Given the description of an element on the screen output the (x, y) to click on. 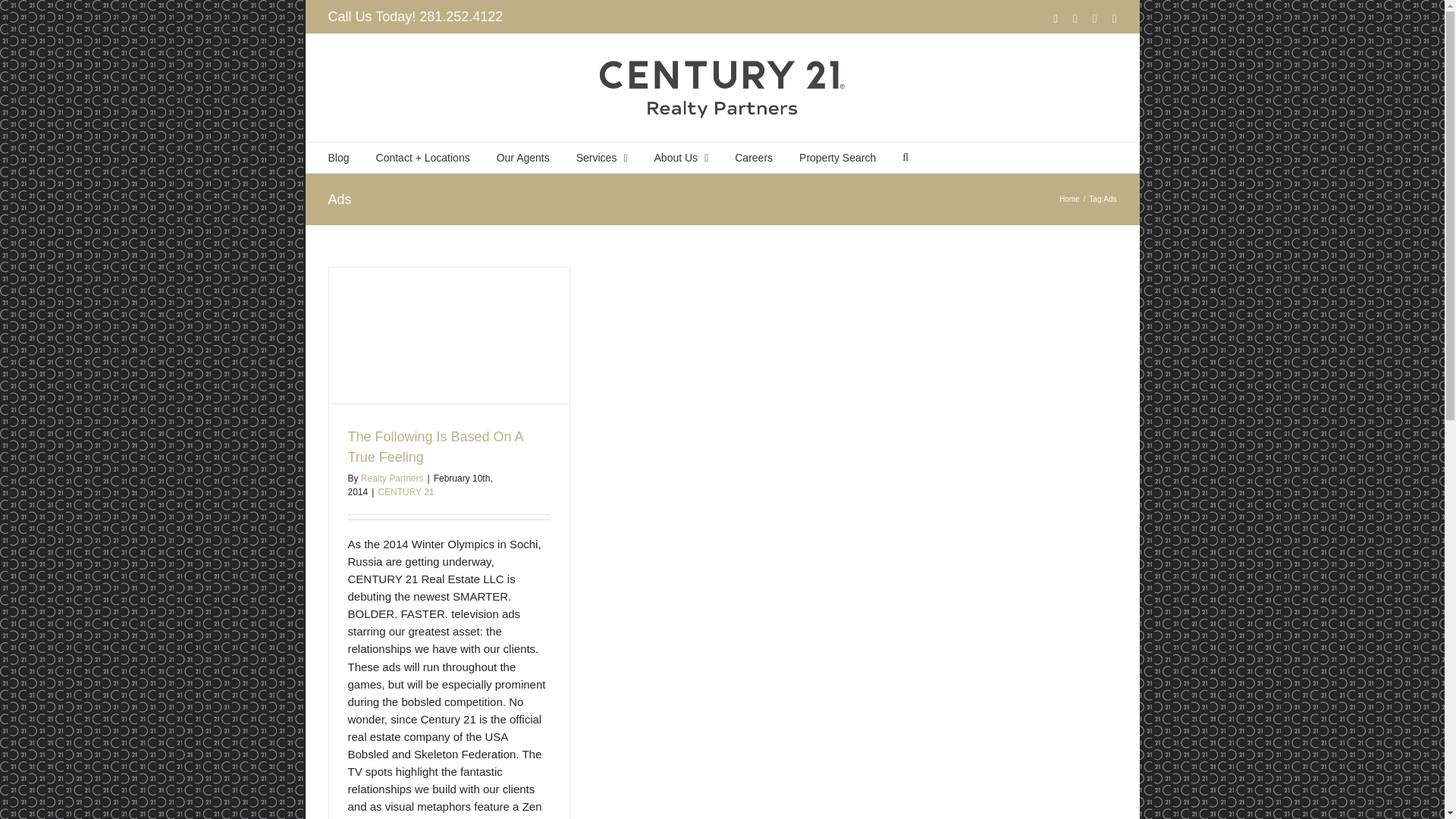
About Us (681, 157)
Careers (754, 157)
Blog (338, 157)
Our Agents (523, 157)
Search (905, 157)
LinkedIn (1075, 19)
Twitter (1095, 19)
Property Search (837, 157)
Services (601, 157)
Posts by Realty Partners (392, 478)
Facebook (1055, 19)
YouTube (1114, 19)
